Given the description of an element on the screen output the (x, y) to click on. 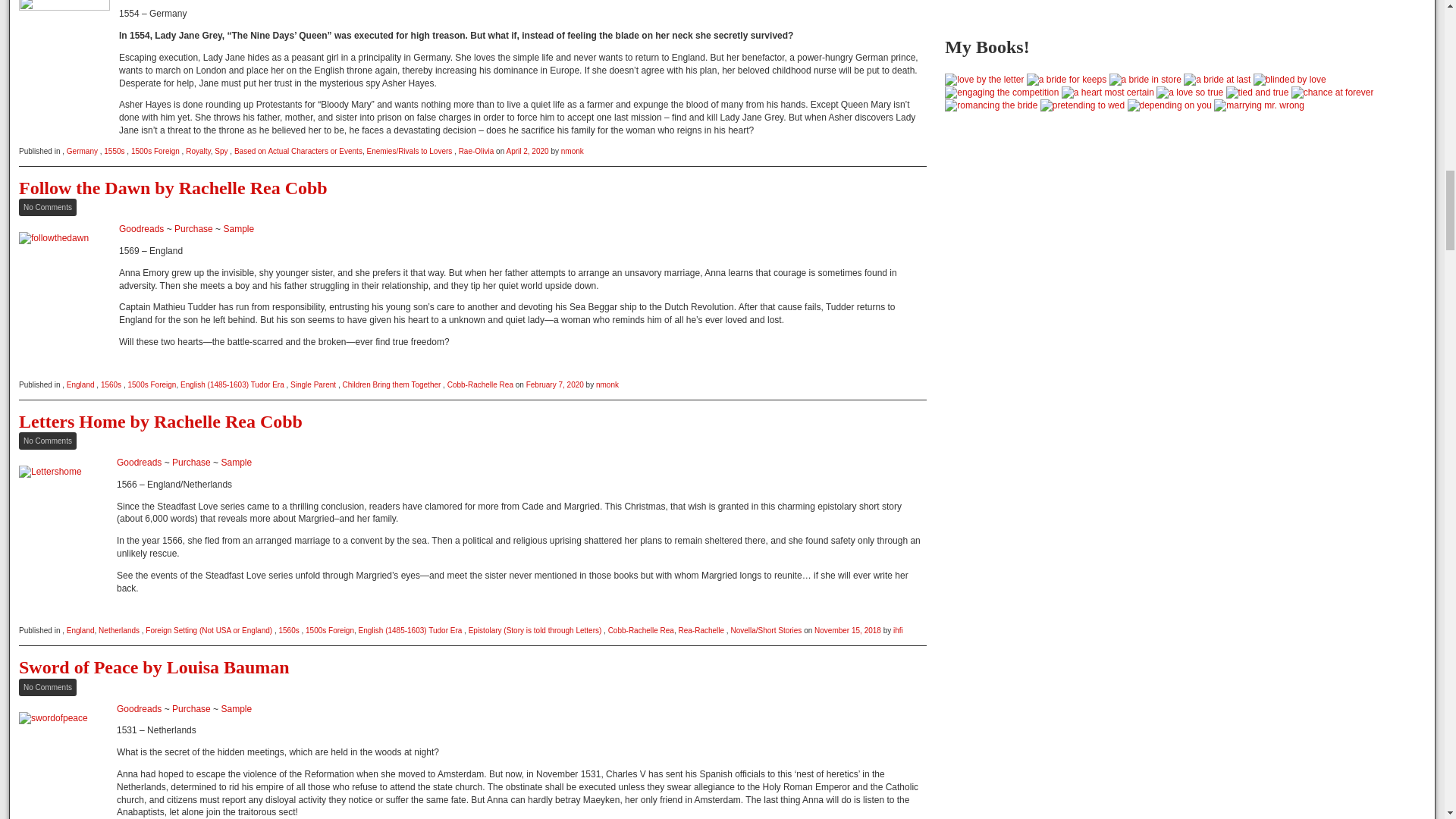
12:31 am (526, 151)
Permalink to Follow the Dawn by Rachelle Rea Cobb (172, 188)
